Given the description of an element on the screen output the (x, y) to click on. 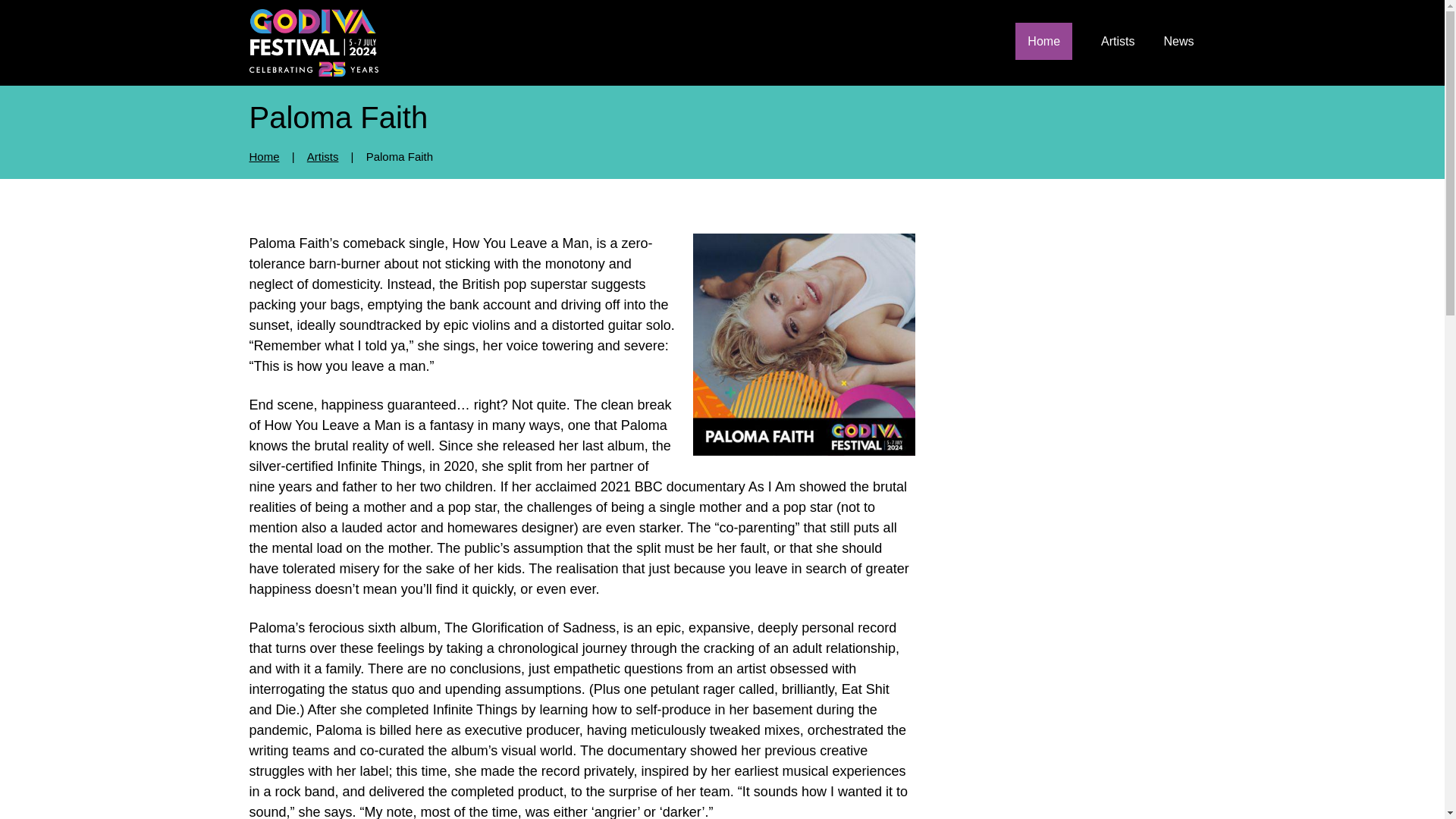
Artists (323, 156)
Home (263, 156)
Home (1042, 40)
Artists (1117, 41)
News (1178, 41)
